Given the description of an element on the screen output the (x, y) to click on. 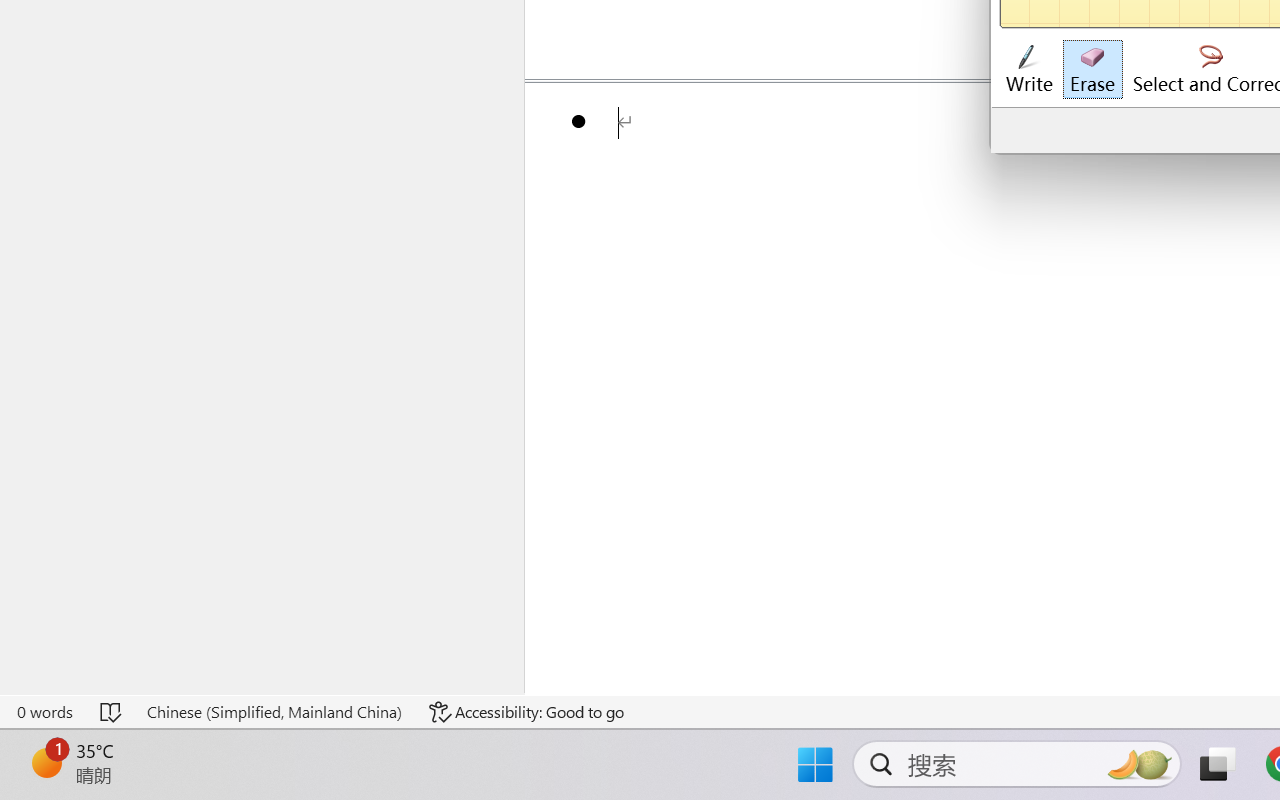
Write (1028, 69)
Erase (1092, 69)
